Given the description of an element on the screen output the (x, y) to click on. 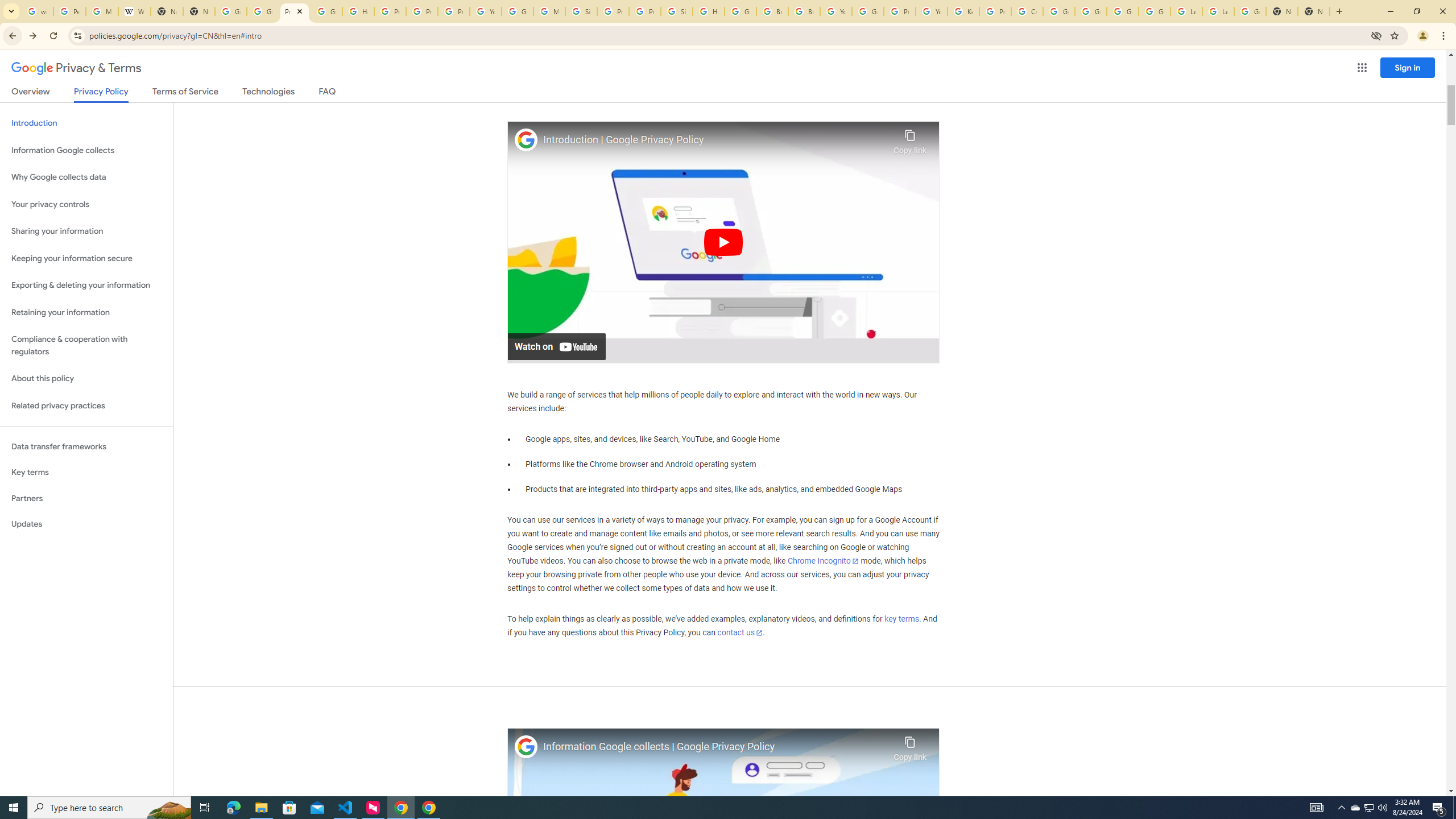
Exporting & deleting your information (86, 284)
Manage your Location History - Google Search Help (101, 11)
Google Account Help (1154, 11)
contact us (739, 633)
Google Account Help (1091, 11)
Sign in - Google Accounts (581, 11)
